Given the description of an element on the screen output the (x, y) to click on. 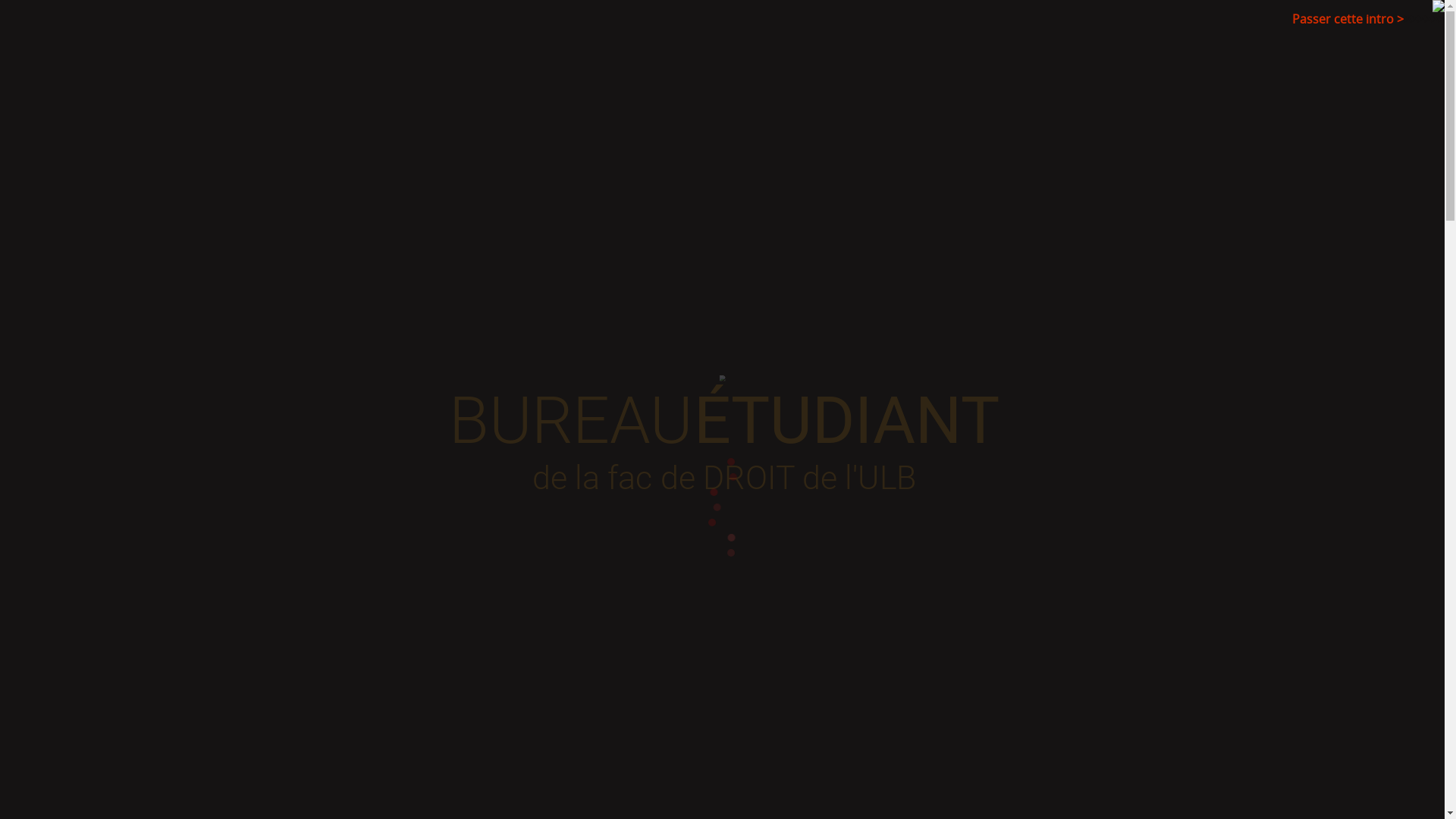
Salle facultaire Element type: text (592, 187)
Search Element type: text (26, 14)
LinkedIn Element type: hover (1069, 84)
Connexion Element type: text (967, 711)
Contact Element type: text (786, 219)
Soutien de projets Element type: text (534, 219)
Liens utiles & Sponsors Element type: text (674, 219)
Search for: Element type: hover (1097, 187)
Syllabus & Codes Element type: text (707, 187)
Facebook Element type: hover (1091, 84)
YouTube Element type: hover (1045, 84)
Menu Element type: text (355, 205)
Passer cette intro > Element type: text (1347, 18)
Qui sommes-nous Element type: text (475, 187)
Accueil Element type: text (377, 187)
Events Element type: text (1018, 187)
Skip to content Element type: text (365, 181)
